Given the description of an element on the screen output the (x, y) to click on. 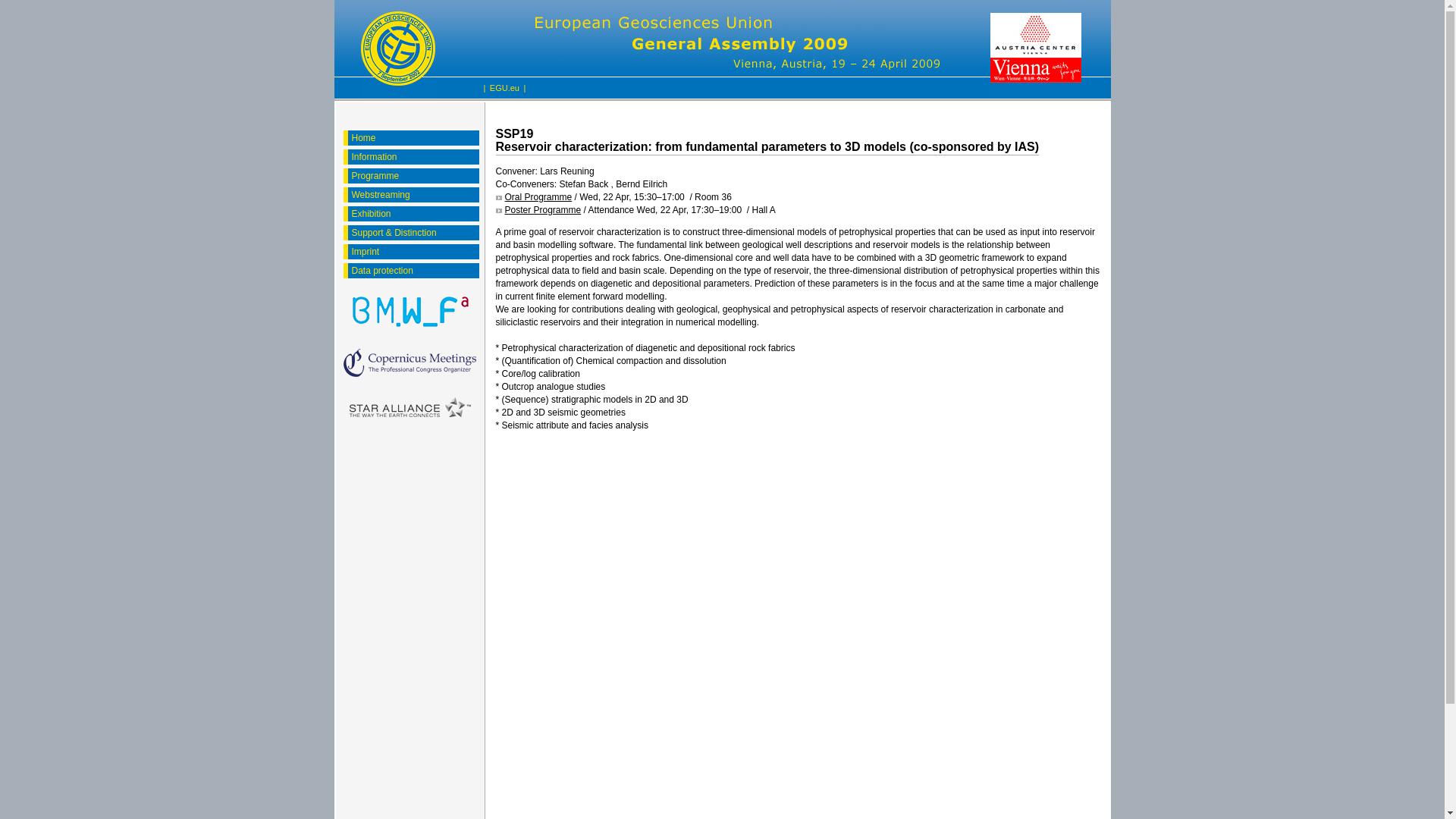
Data protection (413, 270)
Information (413, 156)
Exhibition (413, 213)
Imprint (413, 251)
Oral Programme (534, 196)
Home (413, 137)
Webstreaming (413, 194)
Poster Programme (538, 210)
Programme (413, 175)
EGU.eu (504, 87)
